Given the description of an element on the screen output the (x, y) to click on. 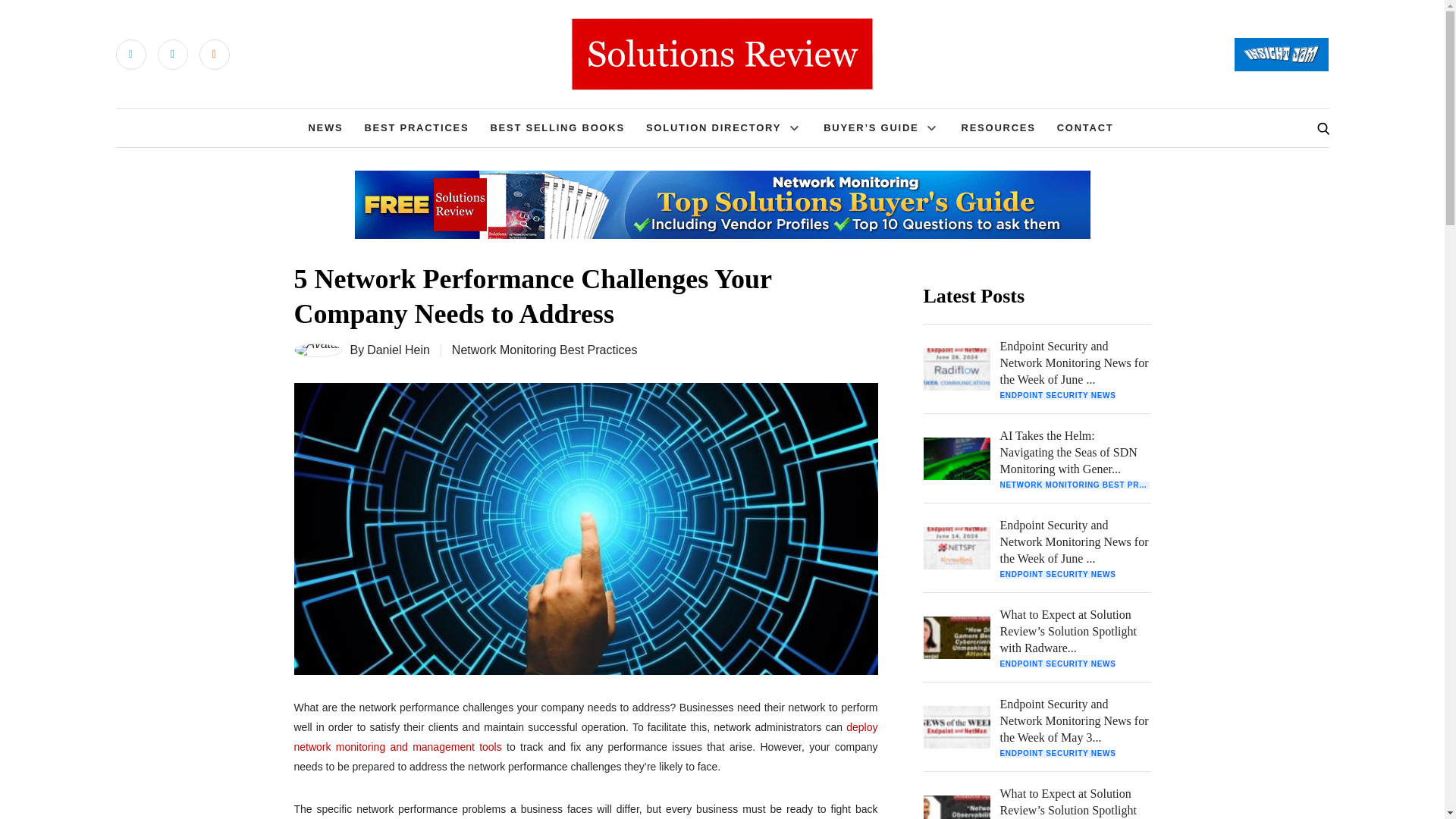
SOLUTION DIRECTORY (713, 127)
deploy network monitoring and management tools (585, 736)
NEWS (324, 127)
RESOURCES (997, 127)
Network Monitoring Best Practices (544, 349)
BEST PRACTICES (416, 127)
BEST SELLING BOOKS (556, 127)
Daniel Hein (397, 350)
CONTACT (1085, 127)
